Given the description of an element on the screen output the (x, y) to click on. 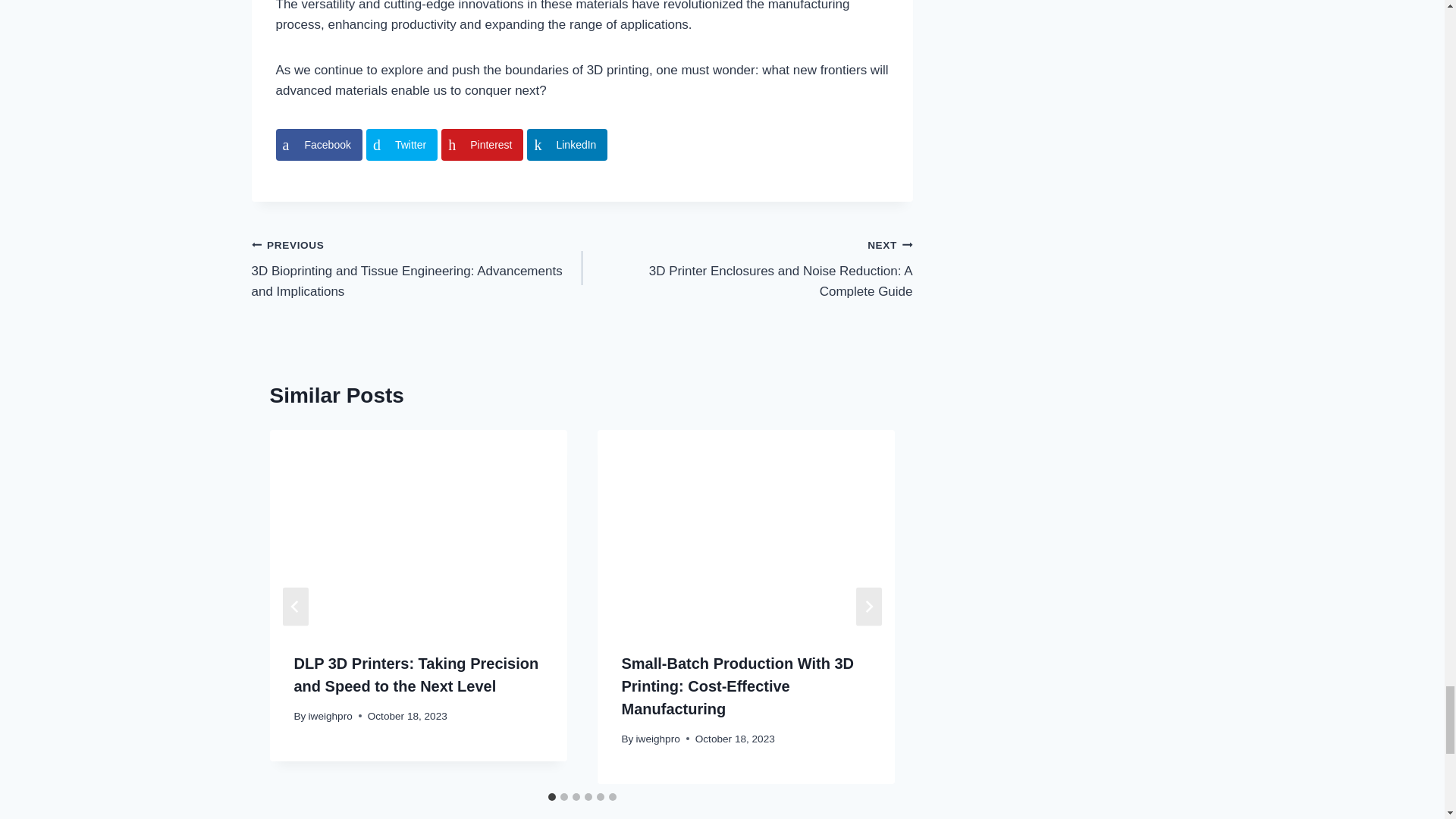
Share on Twitter (402, 144)
Share on Pinterest (481, 144)
LinkedIn (567, 144)
Facebook (319, 144)
Share on Facebook (319, 144)
Twitter (402, 144)
Share on LinkedIn (567, 144)
Pinterest (481, 144)
